Given the description of an element on the screen output the (x, y) to click on. 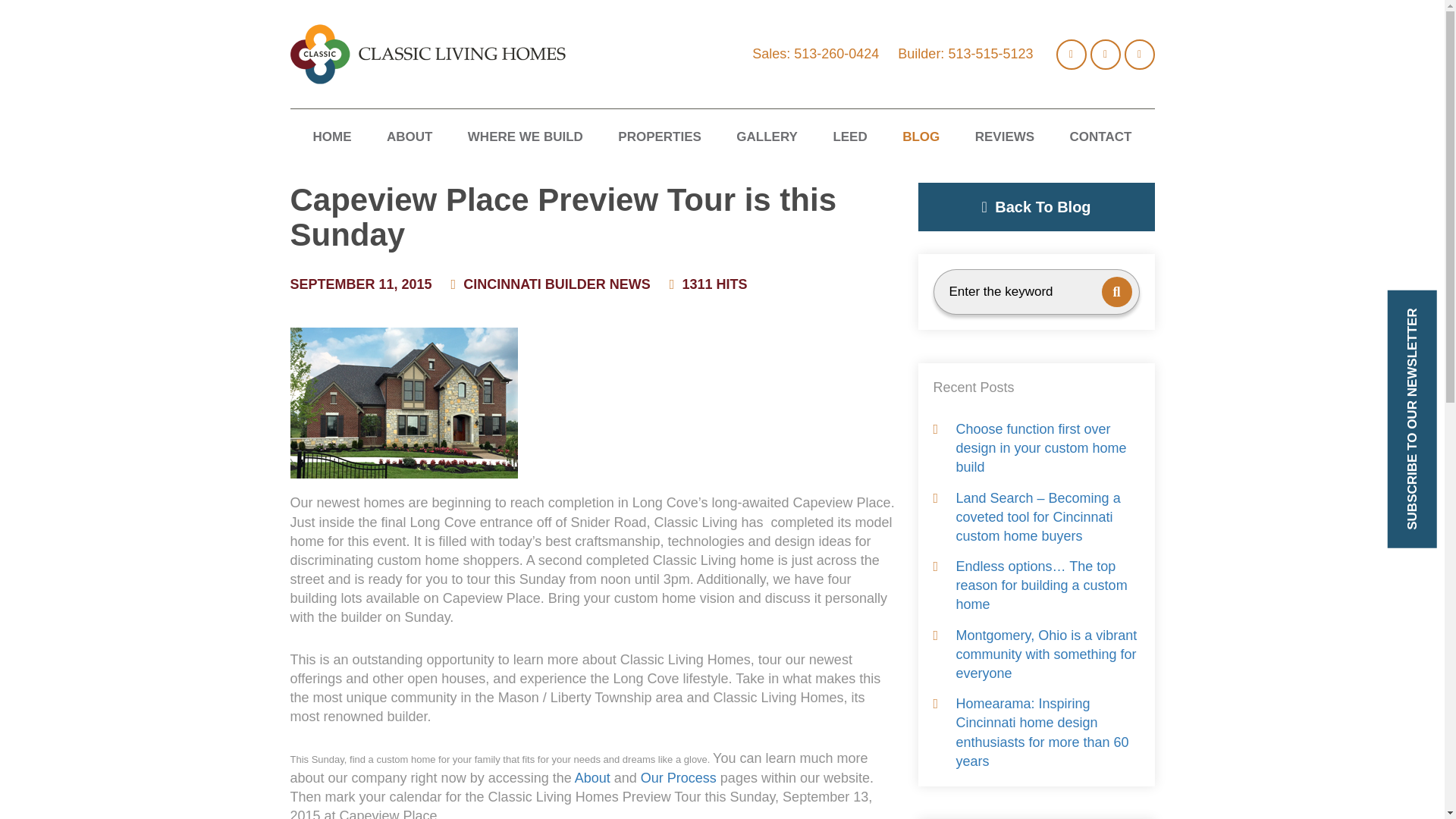
Our Process (678, 777)
Back To Blog (1035, 206)
PROPERTIES (659, 137)
513-260-0424 (836, 53)
REVIEWS (1004, 137)
513-515-5123 (989, 53)
GALLERY (766, 137)
About (592, 777)
CONTACT (1101, 137)
CINCINNATI BUILDER NEWS (556, 283)
Choose function first over design in your custom home build (1035, 448)
WHERE WE BUILD (525, 137)
